Given the description of an element on the screen output the (x, y) to click on. 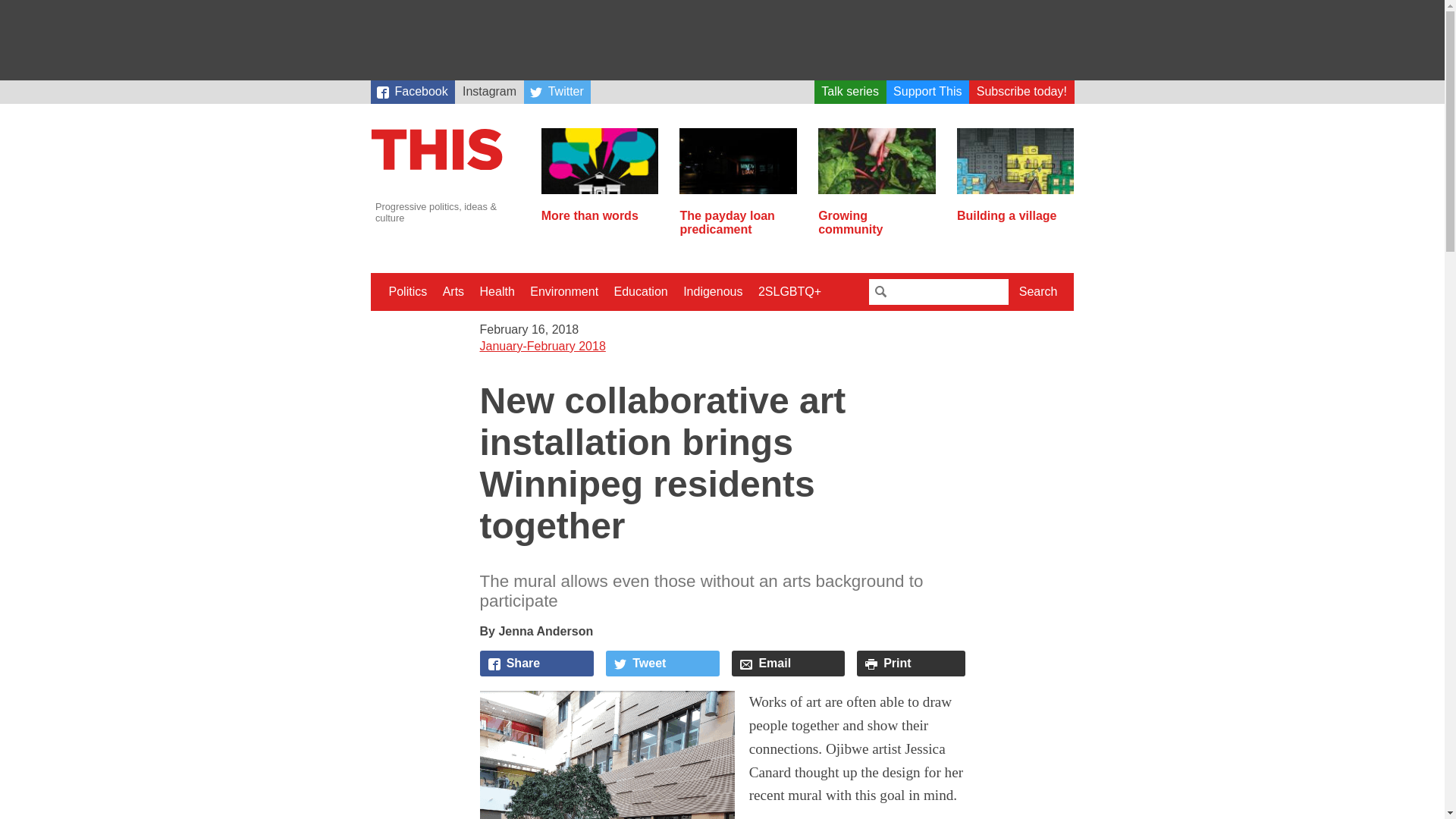
Arts (453, 291)
Talk series (849, 92)
Subscribe today! (1021, 92)
The payday loan predicament (737, 215)
Health (497, 291)
Environment (564, 291)
Indigenous (712, 291)
Print (911, 663)
Building a village (1015, 208)
Facebook (411, 92)
Twitter (557, 92)
Tweet (662, 663)
Share (536, 663)
Email (788, 663)
January-February 2018 (542, 345)
